Given the description of an element on the screen output the (x, y) to click on. 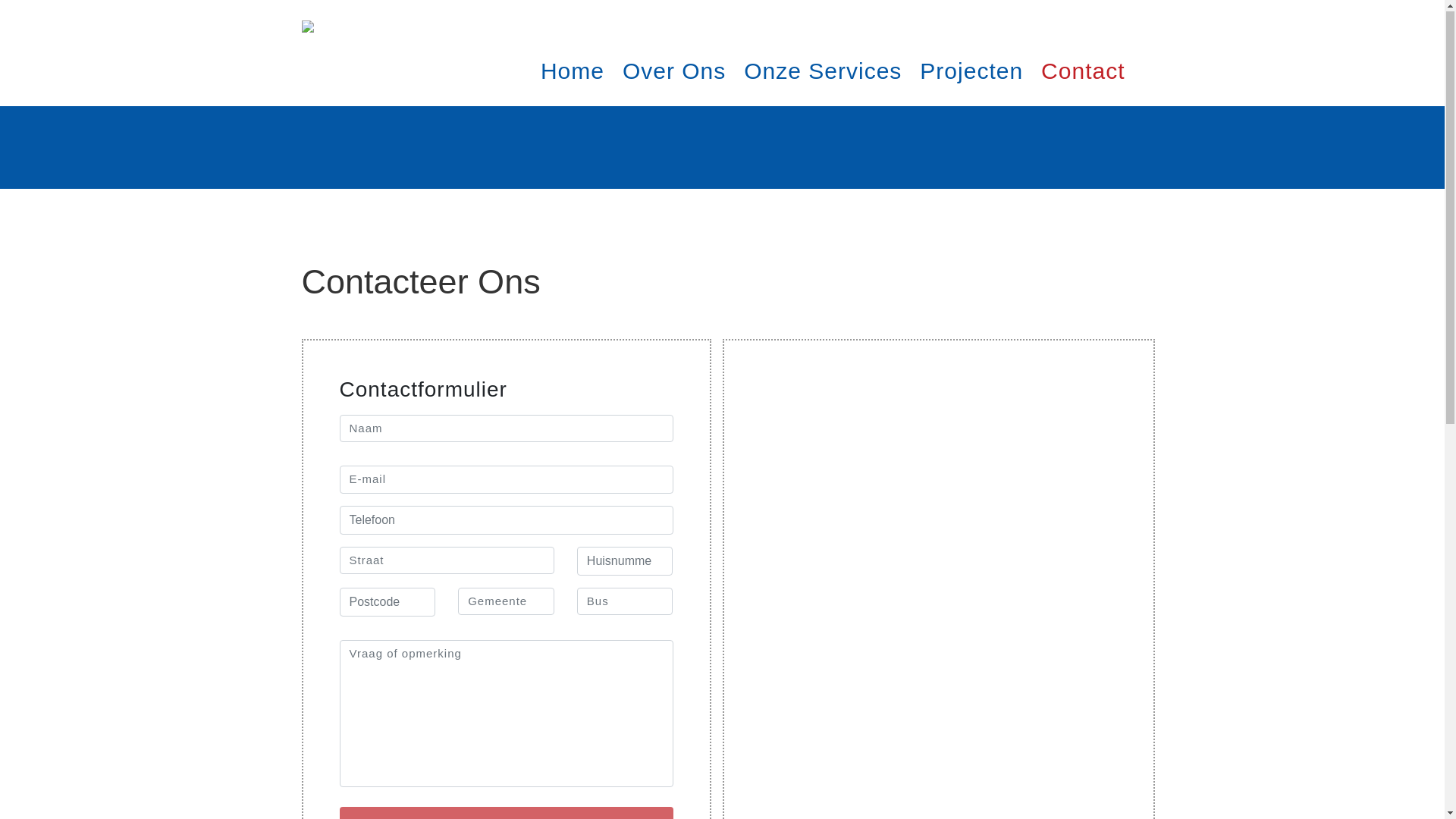
Projecten Element type: text (970, 71)
Contact Element type: text (1082, 71)
Onze Services Element type: text (822, 71)
Over Ons Element type: text (673, 71)
Home Element type: text (572, 71)
